Given the description of an element on the screen output the (x, y) to click on. 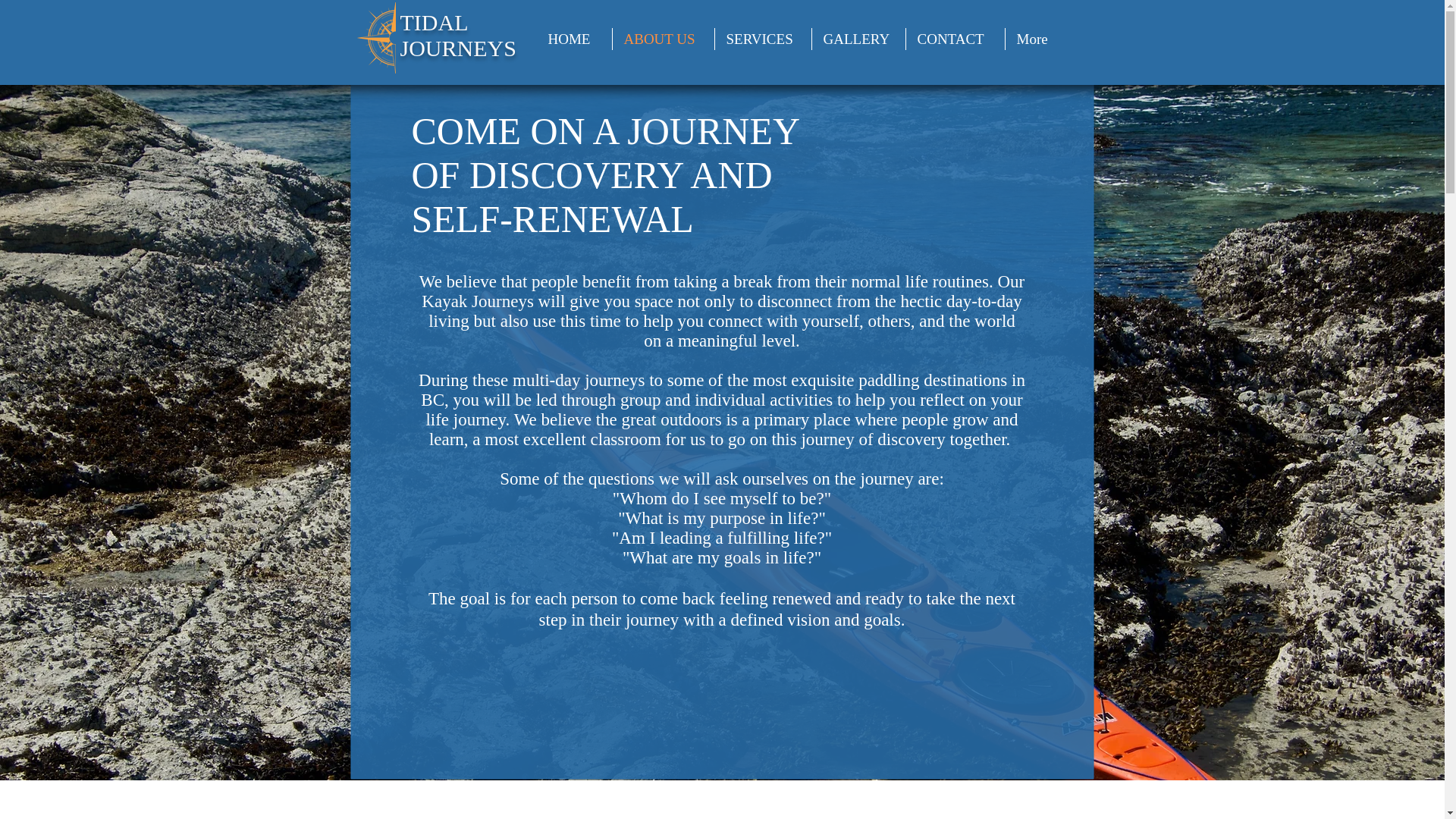
ABOUT US (663, 38)
TIDAL JOURNEYS (458, 34)
SERVICES (762, 38)
HOME (574, 38)
GALLERY (857, 38)
CONTACT (954, 38)
